Given the description of an element on the screen output the (x, y) to click on. 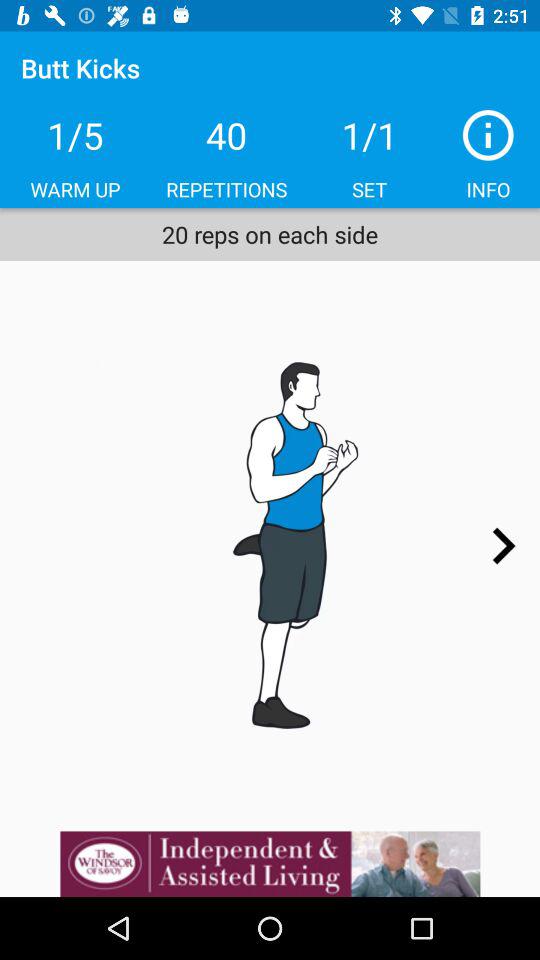
info (487, 135)
